Given the description of an element on the screen output the (x, y) to click on. 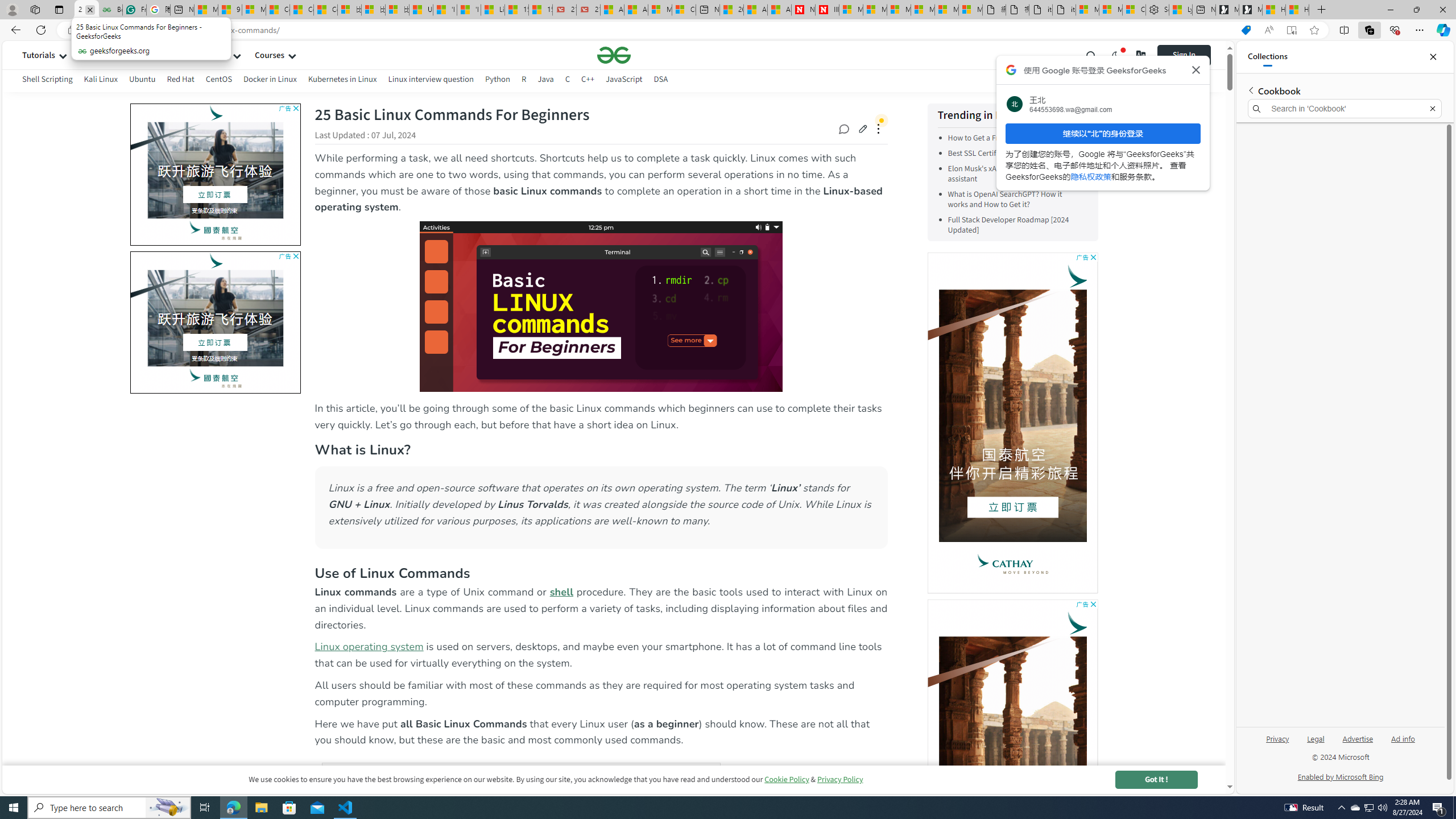
R (523, 80)
Cookie Policy (786, 779)
Best SSL Certificates Provider in India - GeeksforGeeks (110, 9)
AutomationID: brandLogo (214, 322)
Ubuntu (142, 80)
How to Use a TV as a Computer Monitor (1297, 9)
Kali Linux (100, 79)
Docker in Linux (269, 79)
geeksforgeeks (613, 54)
toggle theme (1115, 54)
Python (497, 80)
